Given the description of an element on the screen output the (x, y) to click on. 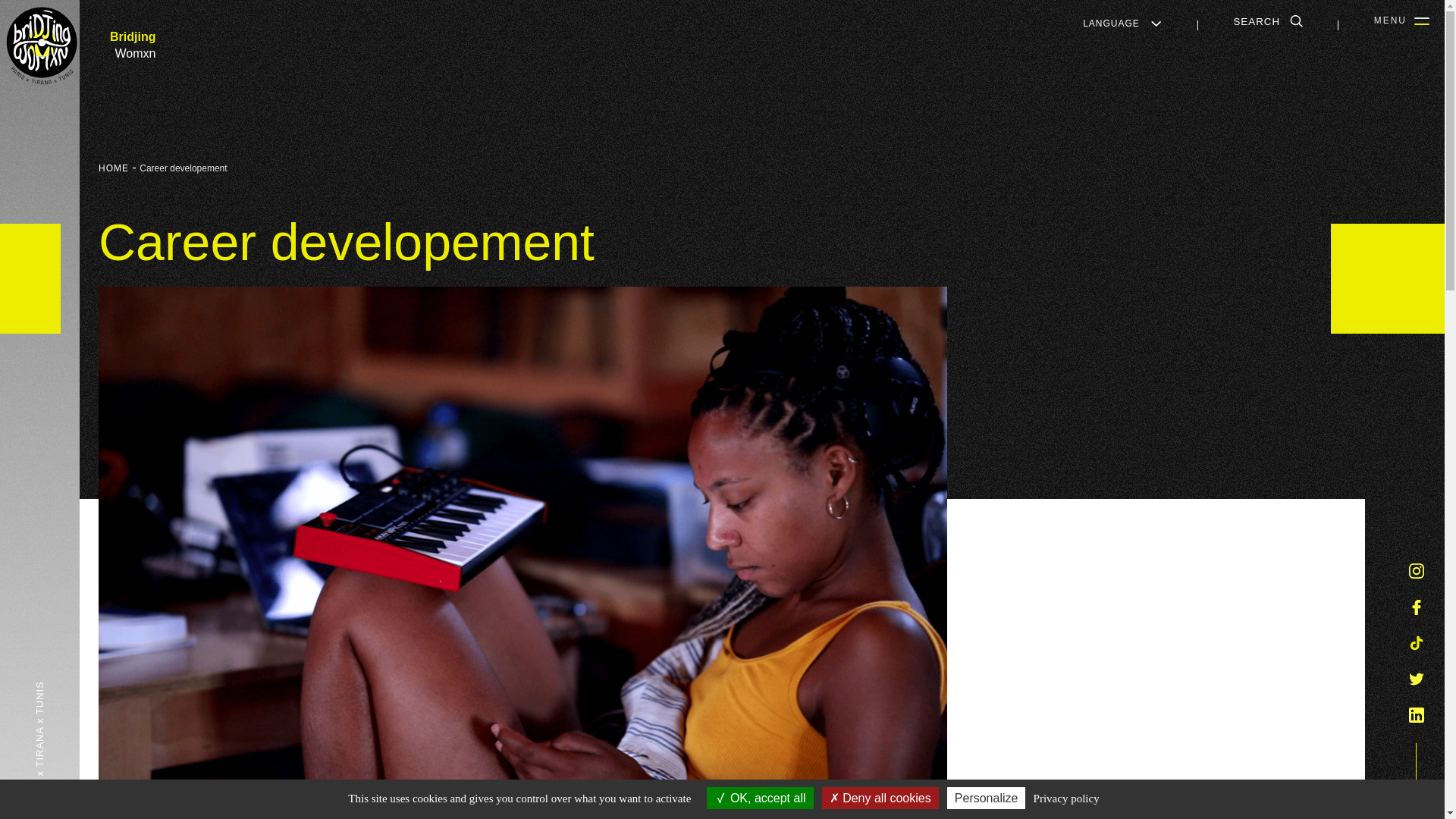
SEARCH (1267, 21)
Facebook page - external link (1417, 606)
Instagram page - external link (1417, 571)
Open Search (1267, 21)
Twitter page - external link (1417, 678)
Open language (1122, 22)
HOME (114, 168)
Linkedin page - external link (1417, 715)
LANGUAGE (1122, 22)
Tiktok page - external link (1417, 643)
